Given the description of an element on the screen output the (x, y) to click on. 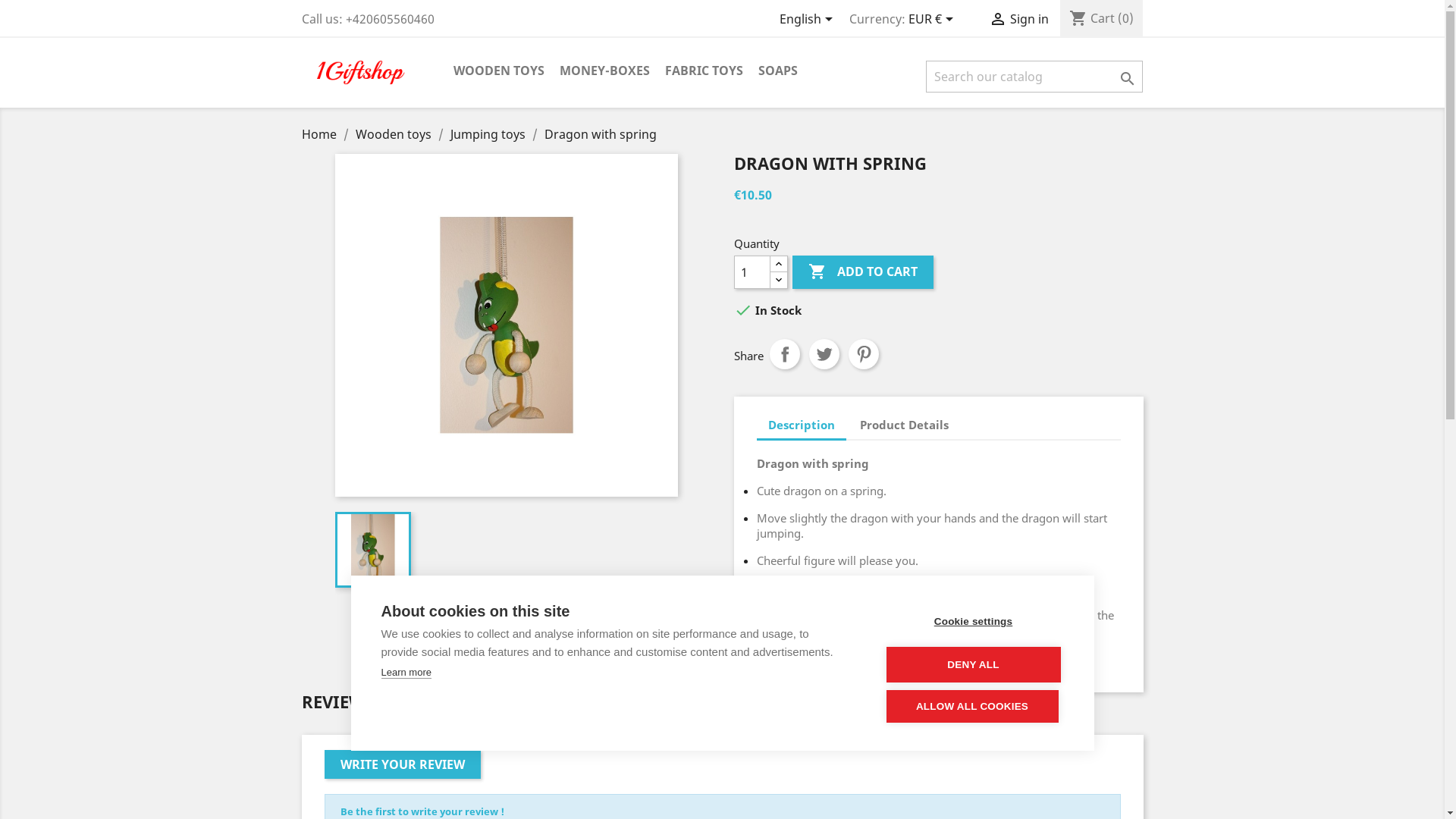
Product Details Element type: text (904, 424)
FABRIC TOYS Element type: text (702, 71)
Cookie settings Element type: text (972, 621)
Tweet Element type: text (823, 353)
SOAPS Element type: text (777, 71)
WOODEN TOYS Element type: text (498, 71)
Pinterest Element type: text (862, 353)
Wooden toys Element type: text (393, 133)
DENY ALL Element type: text (972, 664)
Learn more Element type: text (405, 672)
ALLOW ALL COOKIES Element type: text (971, 706)
Refresh Element type: text (25, 9)
Share Element type: text (783, 353)
WRITE YOUR REVIEW Element type: text (402, 763)
Home Element type: text (320, 133)
Description Element type: text (801, 425)
MONEY-BOXES Element type: text (604, 71)
Be the first to write your review ! Element type: text (421, 811)
Jumping toys Element type: text (489, 133)
Dragon with spring Element type: text (600, 133)
